Given the description of an element on the screen output the (x, y) to click on. 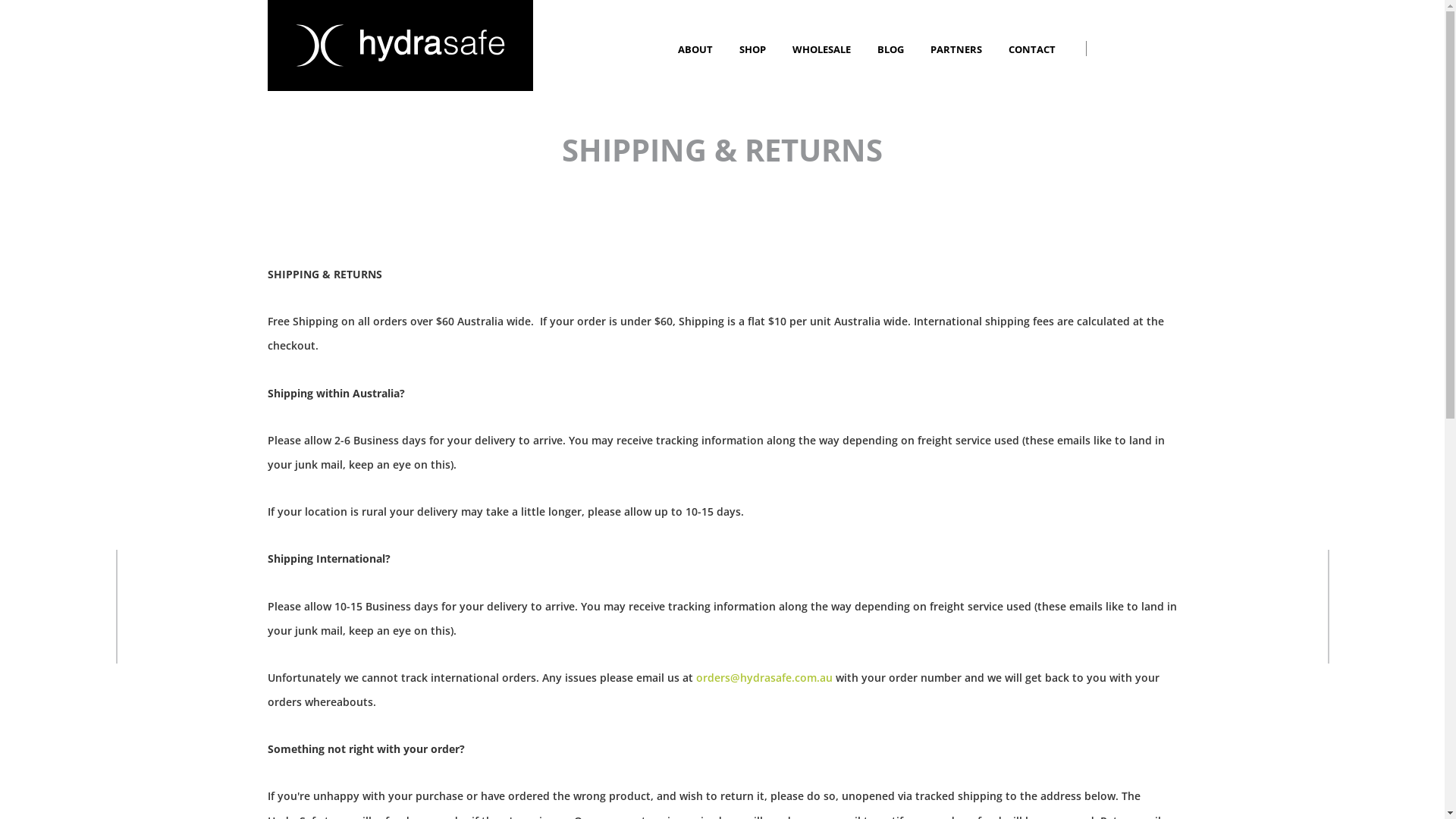
WHOLESALE Element type: text (822, 48)
SHOP Element type: text (753, 48)
orders@hydrasafe.com.au Element type: text (764, 677)
PARTNERS Element type: text (957, 48)
ABOUT Element type: text (696, 48)
CONTACT Element type: text (1033, 48)
BLOG Element type: text (891, 48)
